Given the description of an element on the screen output the (x, y) to click on. 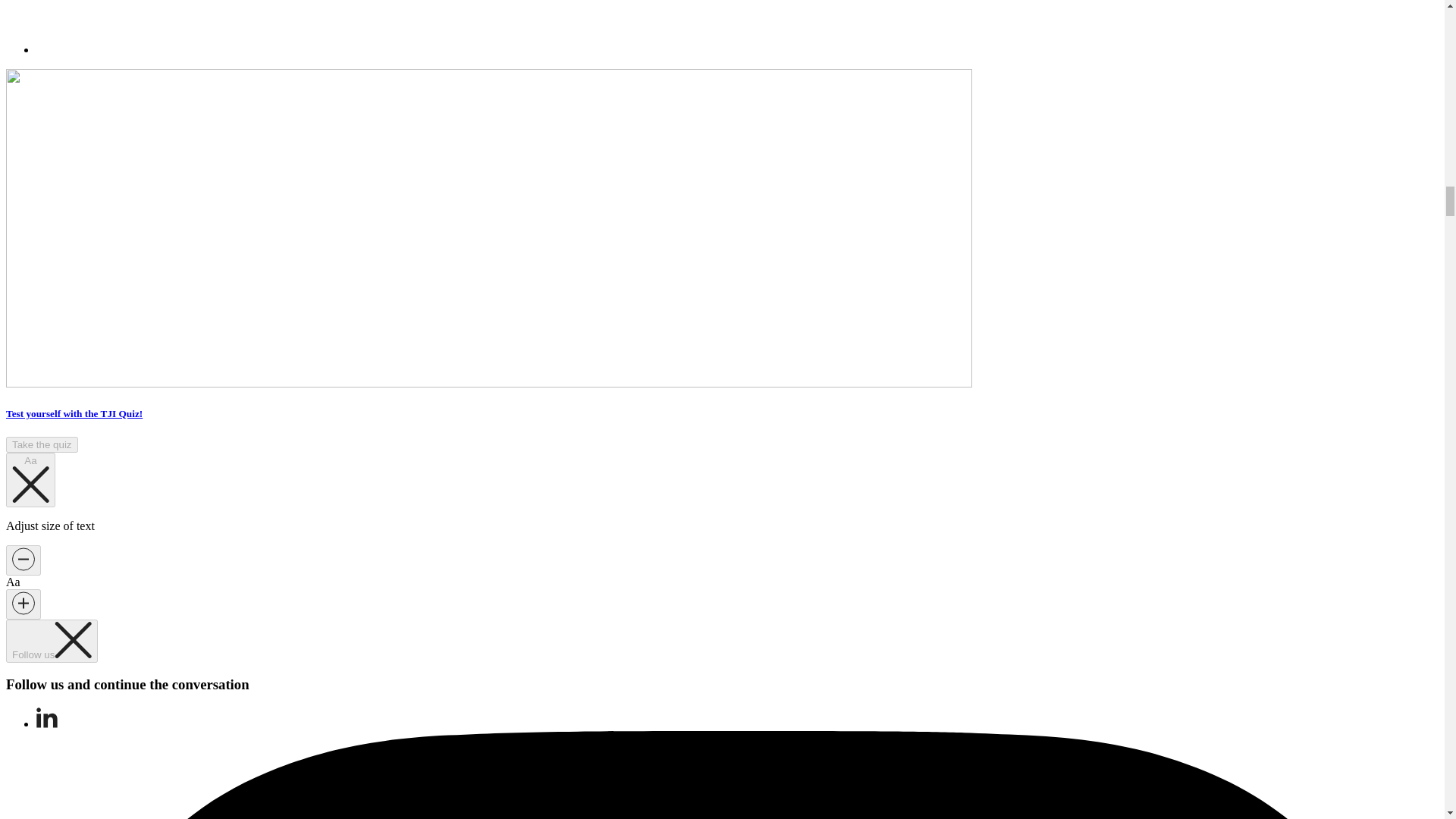
Take the quiz (41, 444)
Aa (30, 479)
Follow us (51, 640)
textSizeControl (30, 479)
LinkedIn (47, 723)
socials (51, 640)
LinkedIn (47, 717)
Increase text size (22, 603)
Decrease text size (22, 560)
